Given the description of an element on the screen output the (x, y) to click on. 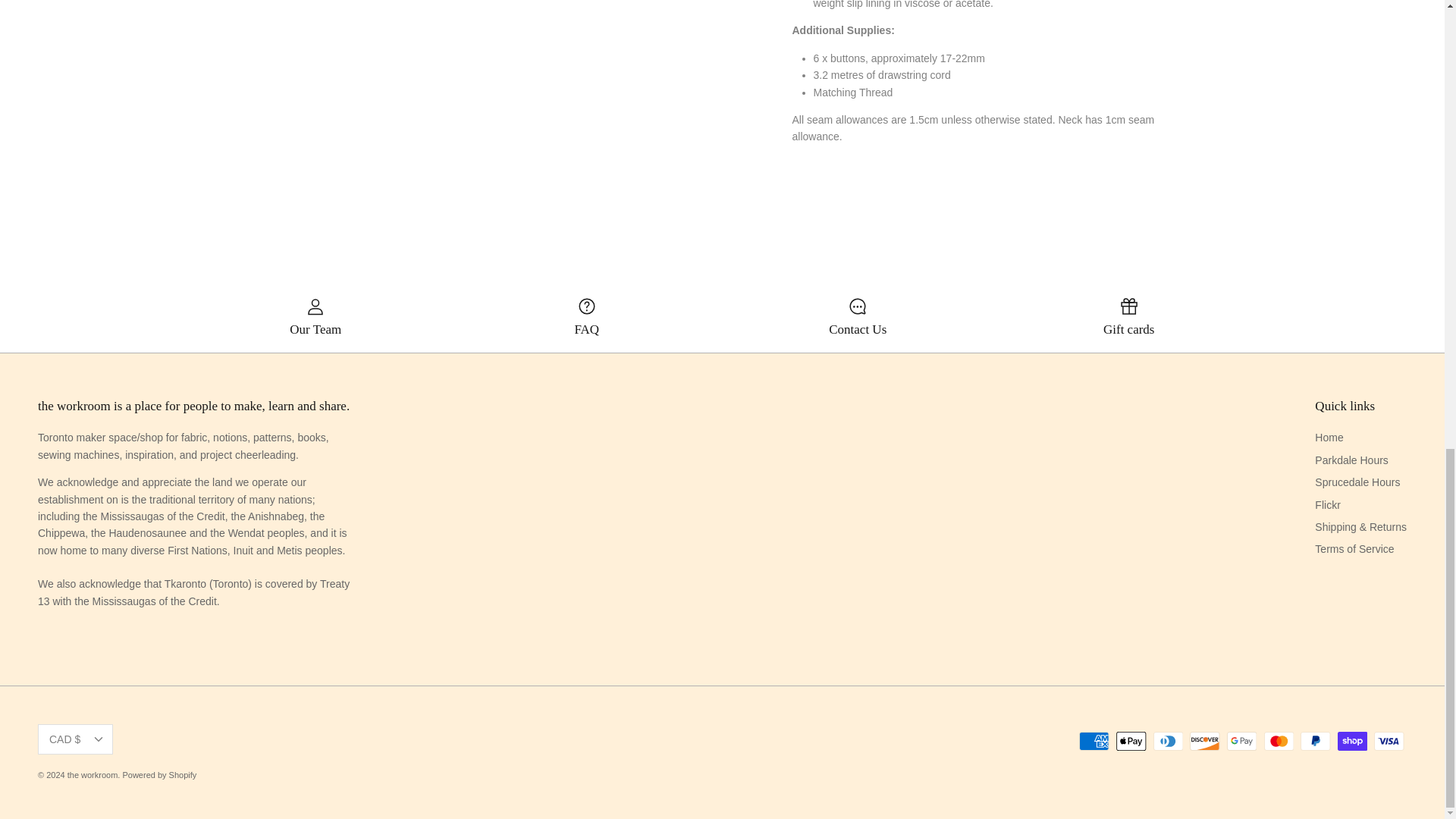
American Express (1093, 741)
Google Pay (1241, 741)
Mastercard (1277, 741)
Shop Pay (1352, 741)
Discover (1204, 741)
Visa (1388, 741)
PayPal (1315, 741)
Apple Pay (1130, 741)
Diners Club (1168, 741)
